Given the description of an element on the screen output the (x, y) to click on. 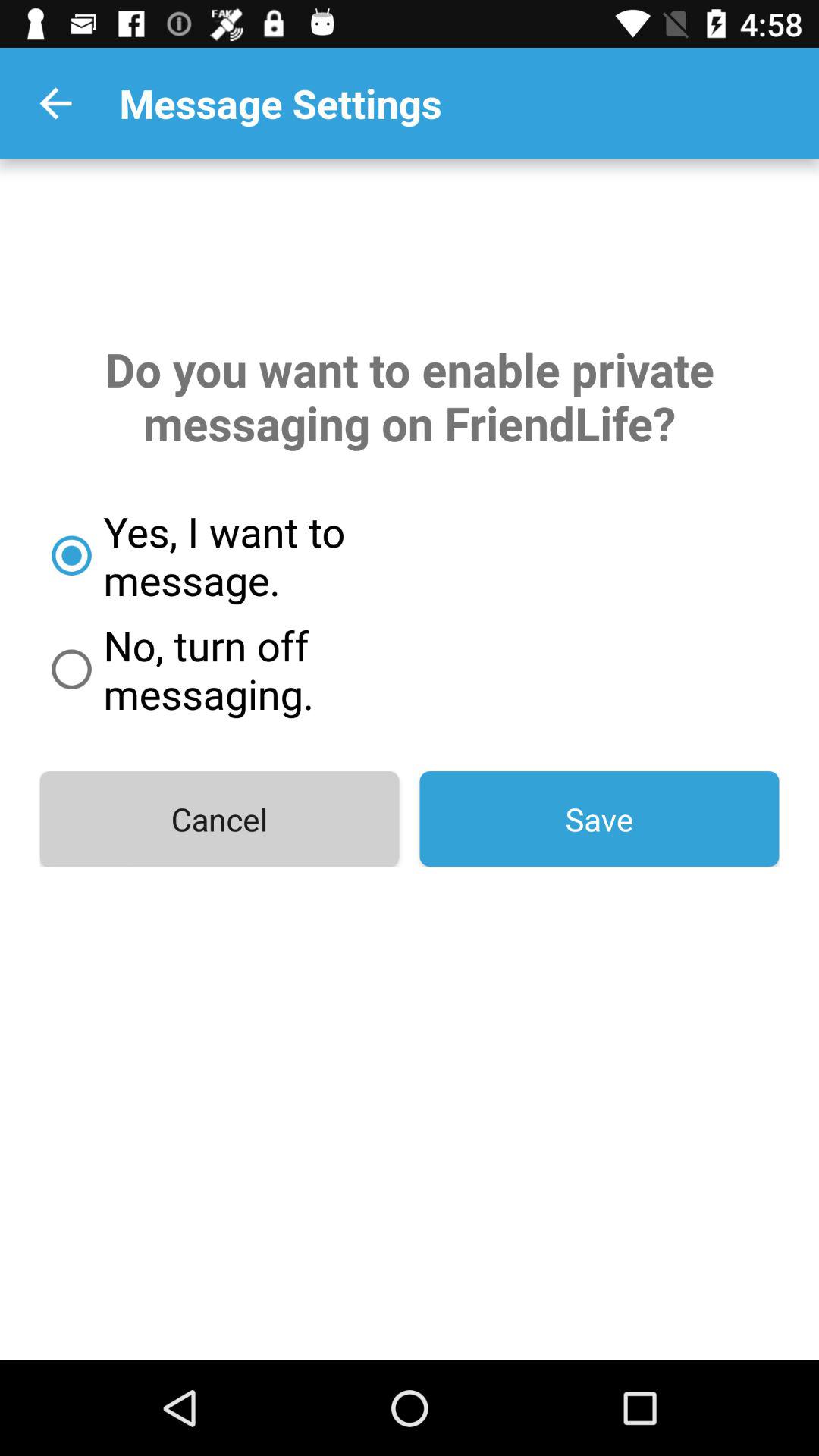
launch icon below the yes i want (278, 669)
